Given the description of an element on the screen output the (x, y) to click on. 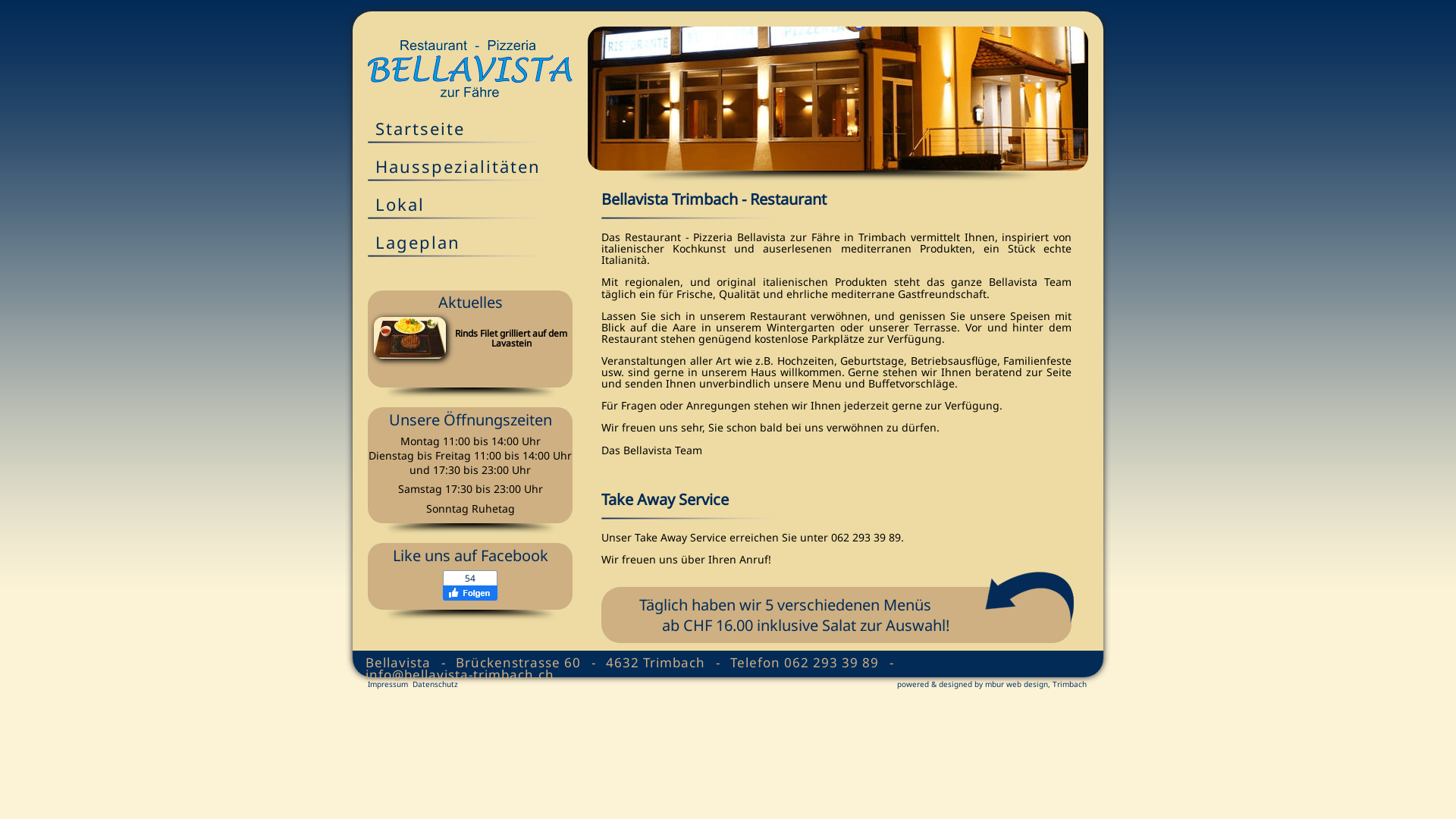
54 Element type: text (544, 605)
<strong>Rinds Filet grilliert auf dem Lavastein</strong> Element type: hover (409, 354)
powered & designed by mbur web design, Trimbach Element type: text (991, 683)
Lokal Element type: text (477, 208)
Startseite Element type: text (477, 132)
Lageplan Element type: text (477, 246)
info@bellavista-trimbach.ch Element type: text (459, 674)
Datenschutz Element type: text (435, 683)
Impressum Element type: text (387, 683)
